Given the description of an element on the screen output the (x, y) to click on. 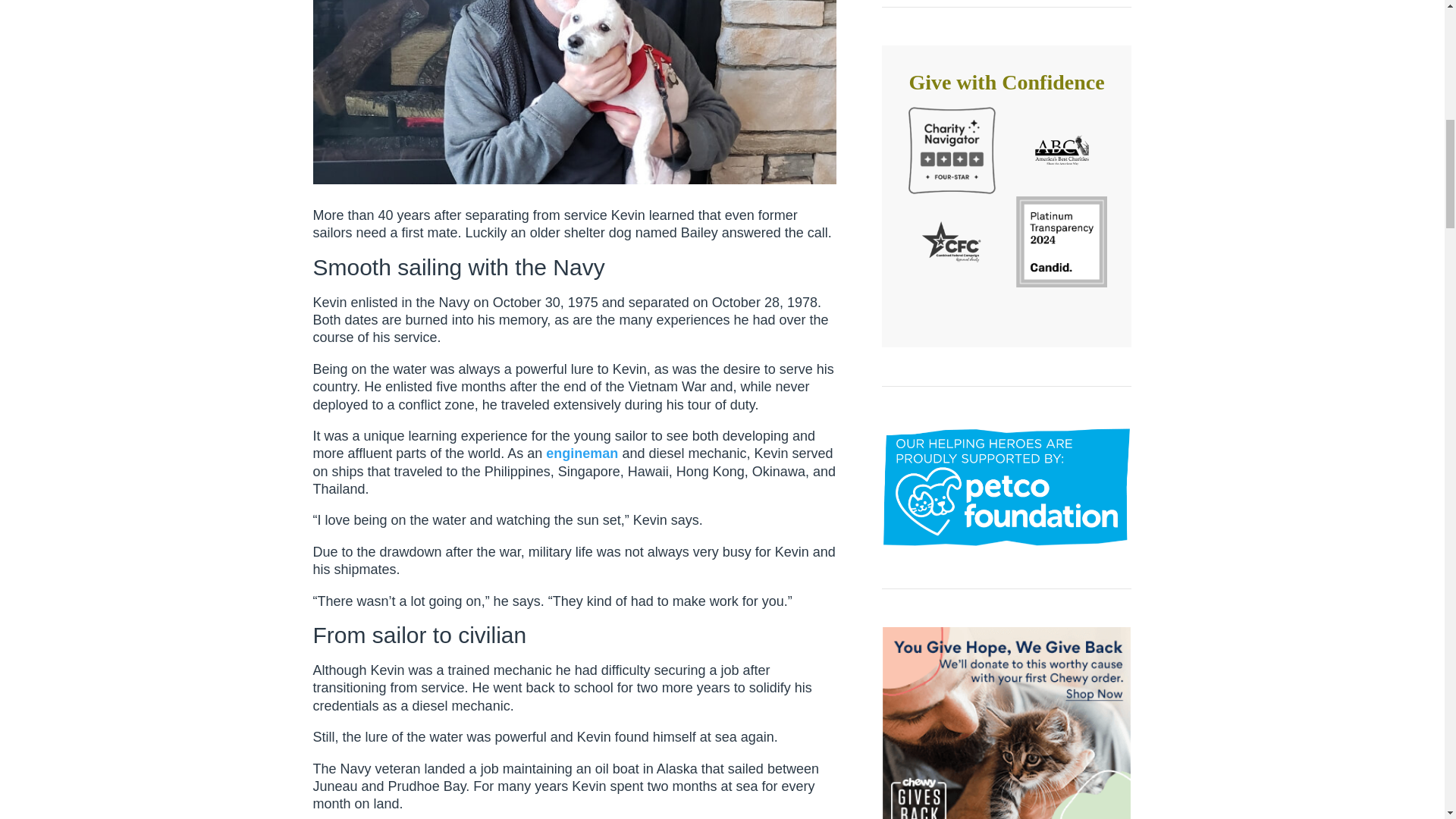
chewy-gives-back (1005, 723)
Petco Foundation Site Badge - Helping Heroes (1005, 487)
